Given the description of an element on the screen output the (x, y) to click on. 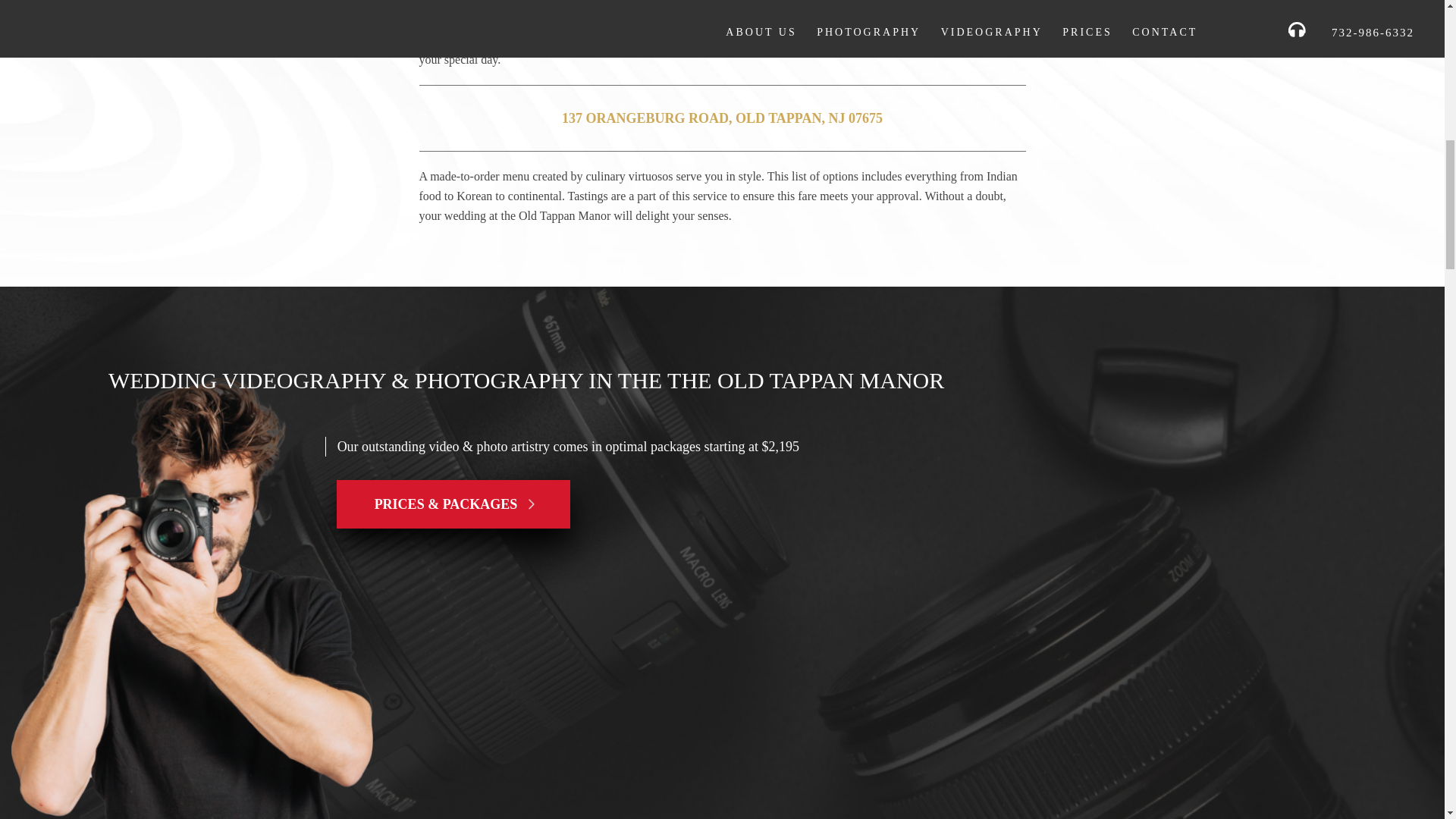
137 ORANGEBURG ROAD, OLD TAPPAN, NJ 07675 (722, 118)
